Given the description of an element on the screen output the (x, y) to click on. 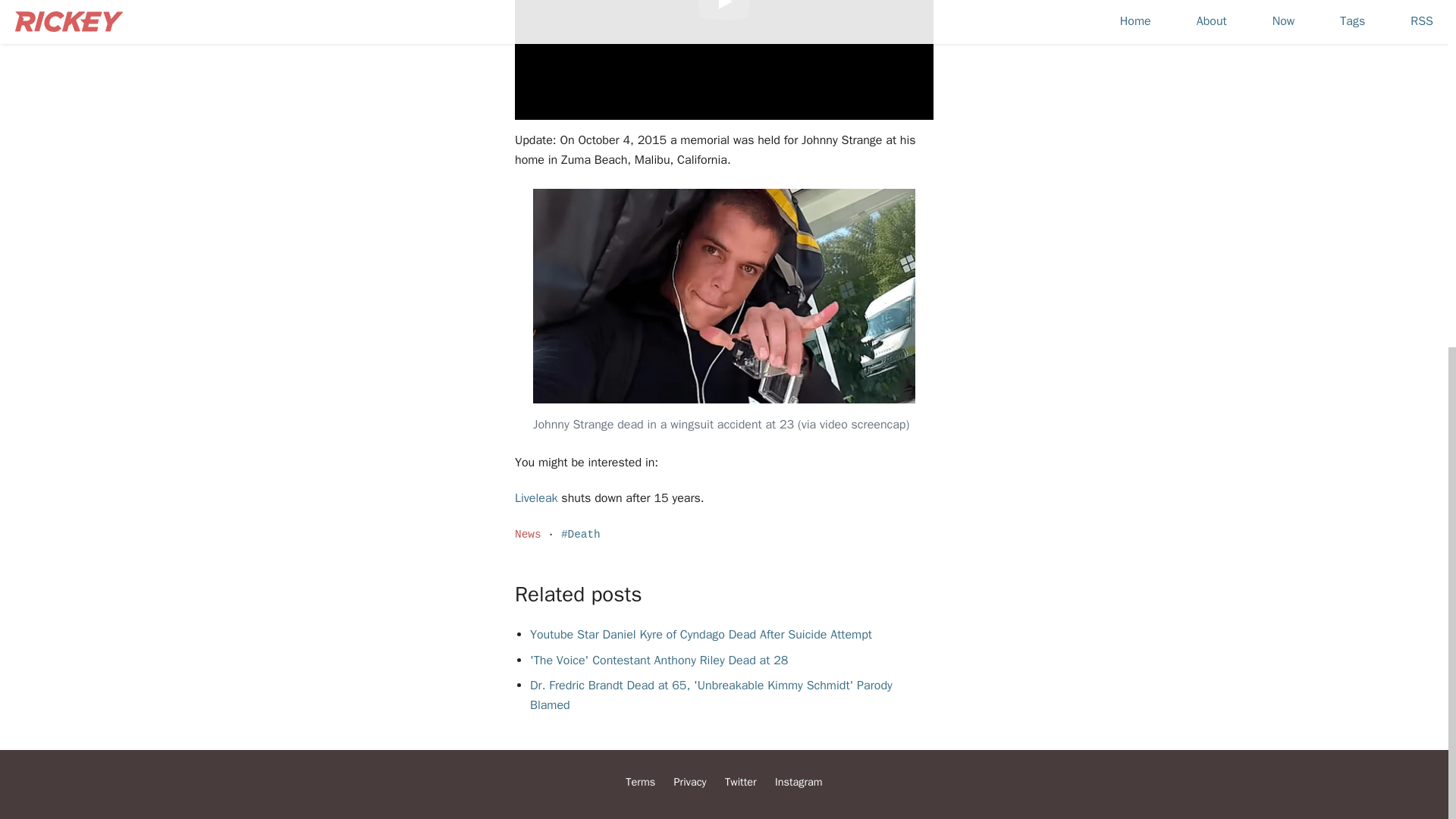
Instagram (798, 781)
Twitter (740, 781)
YouTube Lite Embed (723, 9)
Terms (639, 781)
'The Voice' Contestant Anthony Riley Dead at 28 (658, 660)
Liveleak (536, 498)
Privacy (690, 781)
News (528, 534)
